Given the description of an element on the screen output the (x, y) to click on. 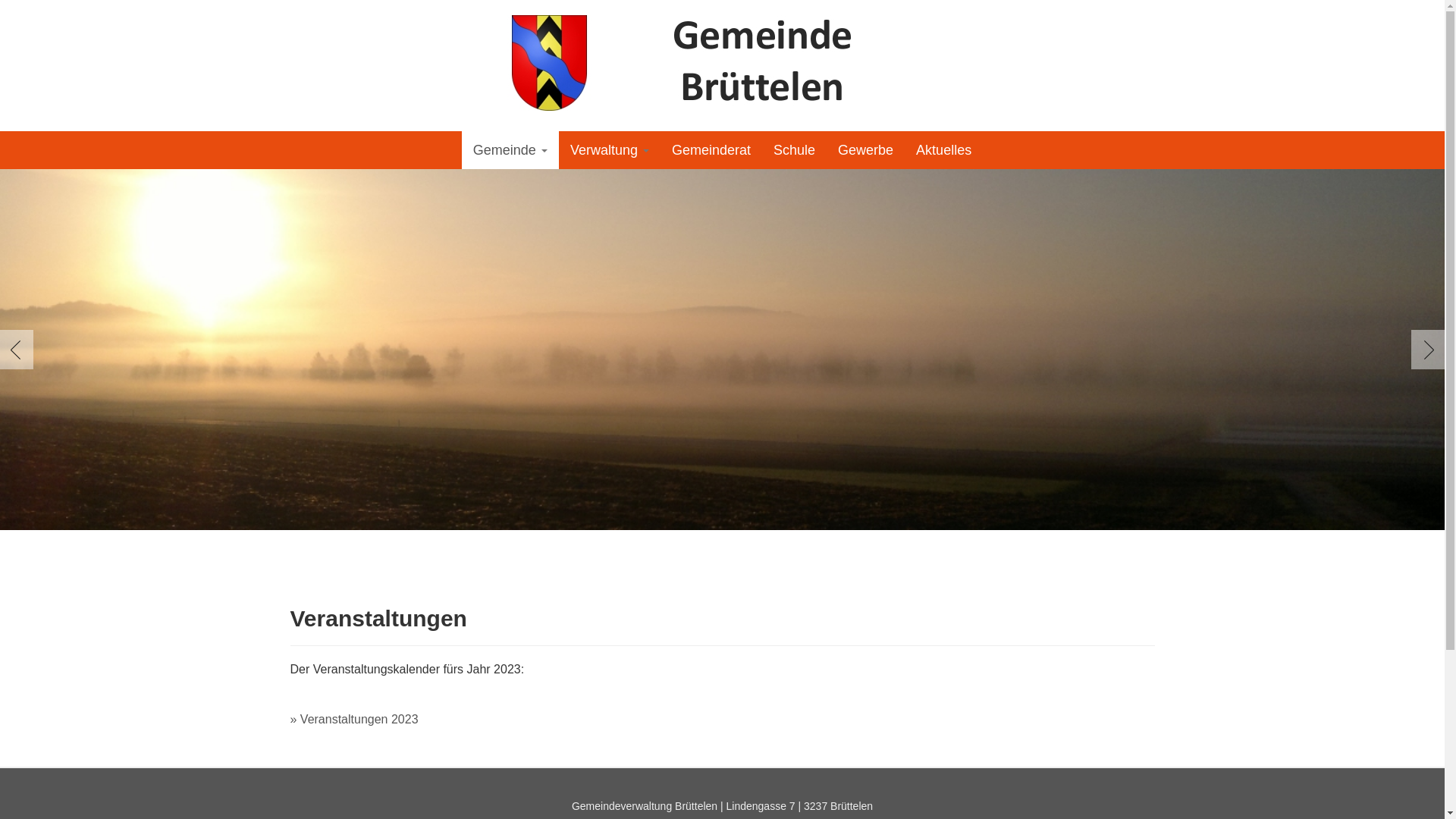
Schule Element type: text (794, 150)
Verwaltung Element type: text (609, 150)
Aktuelles Element type: text (943, 150)
Gemeinderat Element type: text (711, 150)
Gewerbe Element type: text (865, 150)
Next Element type: text (1424, 349)
Gemeinde Element type: text (509, 150)
Previous Element type: text (19, 349)
